Given the description of an element on the screen output the (x, y) to click on. 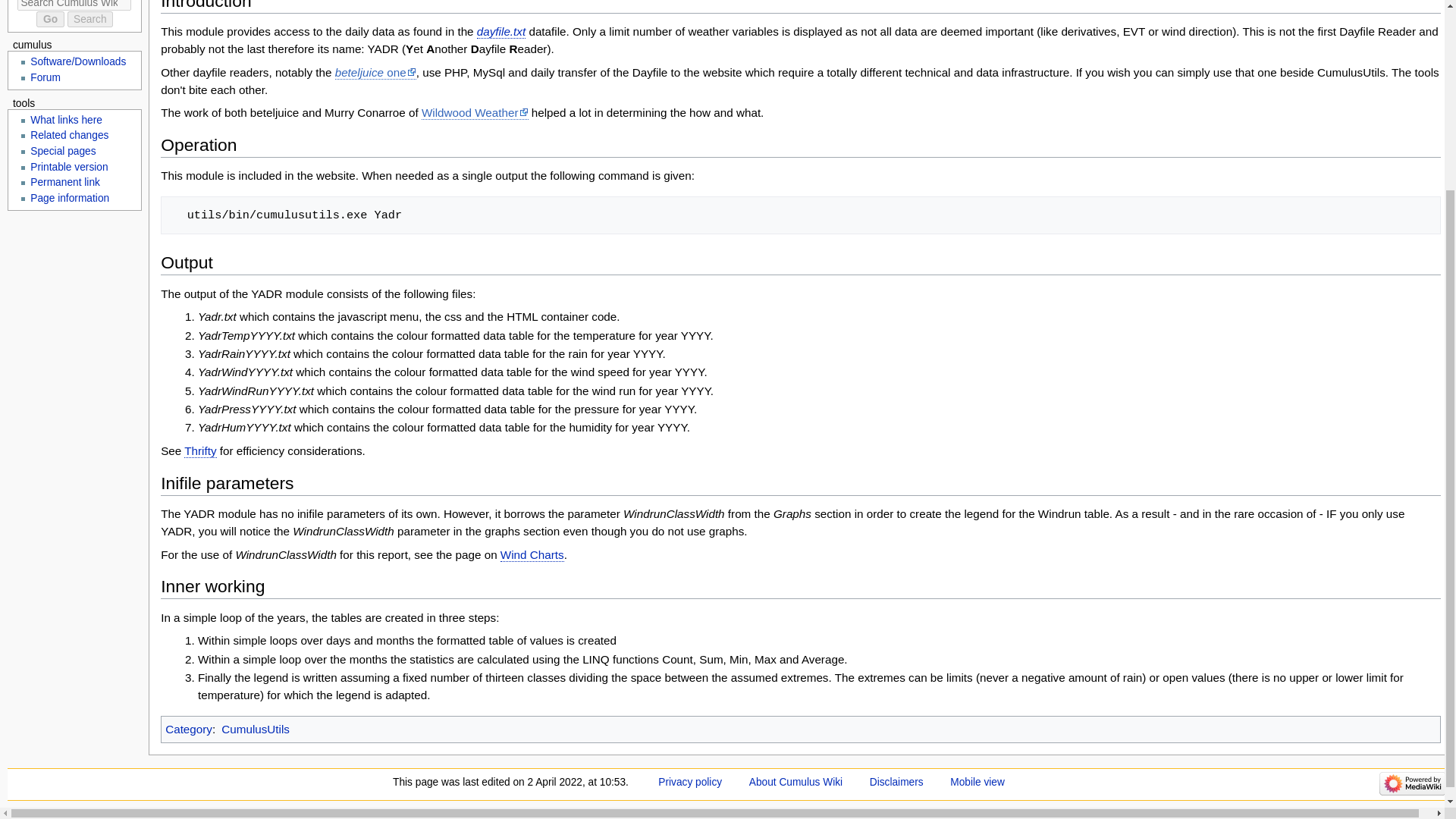
Wind Charts (532, 554)
Search (89, 19)
Thrifty (199, 450)
Forum (45, 77)
Printable version (68, 165)
Related changes (68, 134)
CumulusUtils (255, 728)
Permanent link (65, 182)
What links here (65, 120)
Dayfile.txt (501, 31)
Go (50, 19)
Thrifty - Cutils Command Qualifier (199, 450)
Category (188, 728)
Go (50, 19)
Special pages (63, 151)
